Given the description of an element on the screen output the (x, y) to click on. 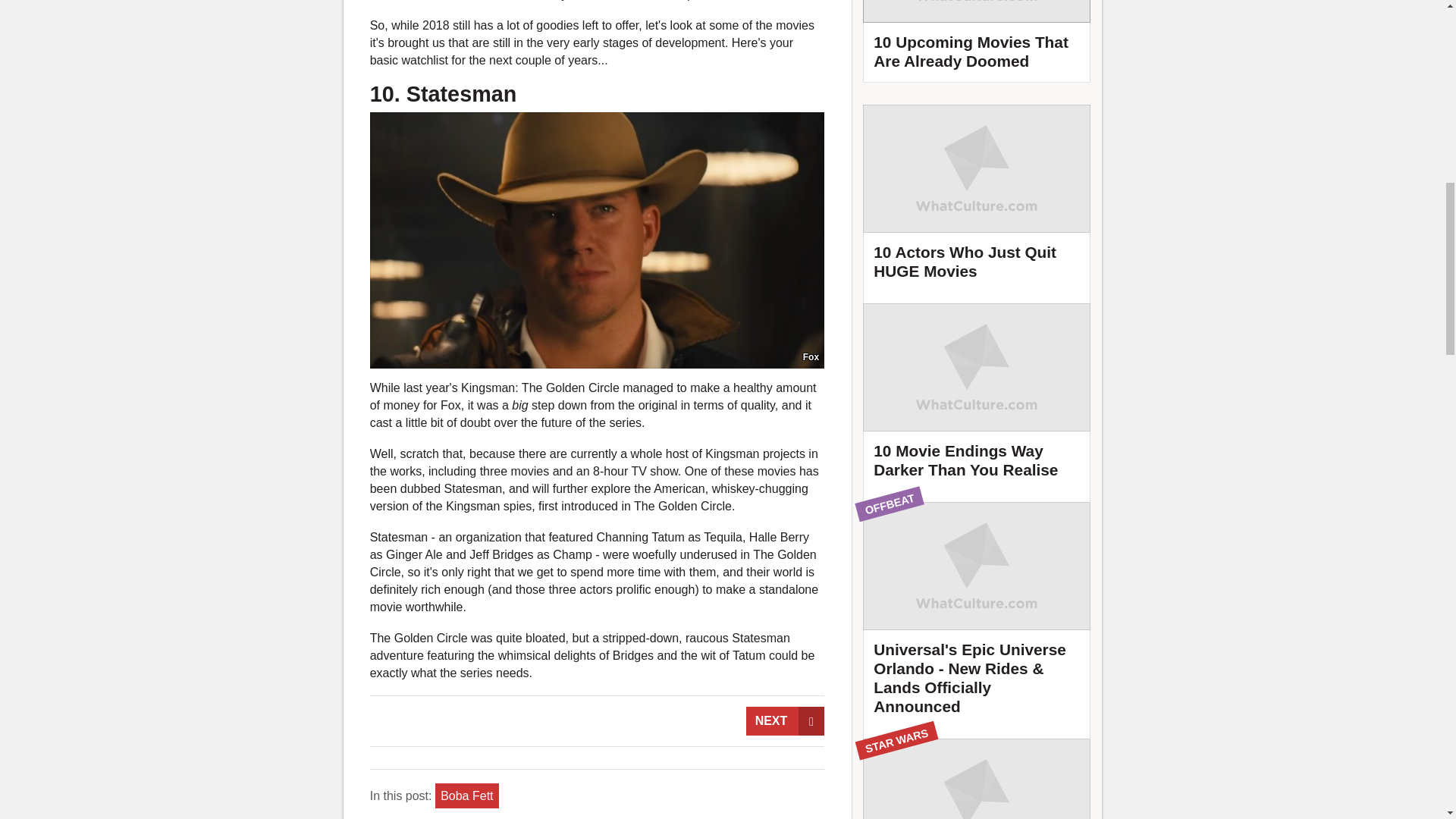
10 Actors Who Just Quit HUGE Movies (976, 198)
10 Huge Star Wars Moments That Happened In The Background (976, 778)
10 Movie Endings Way Darker Than You Realise (976, 397)
Featured Video (976, 41)
